Given the description of an element on the screen output the (x, y) to click on. 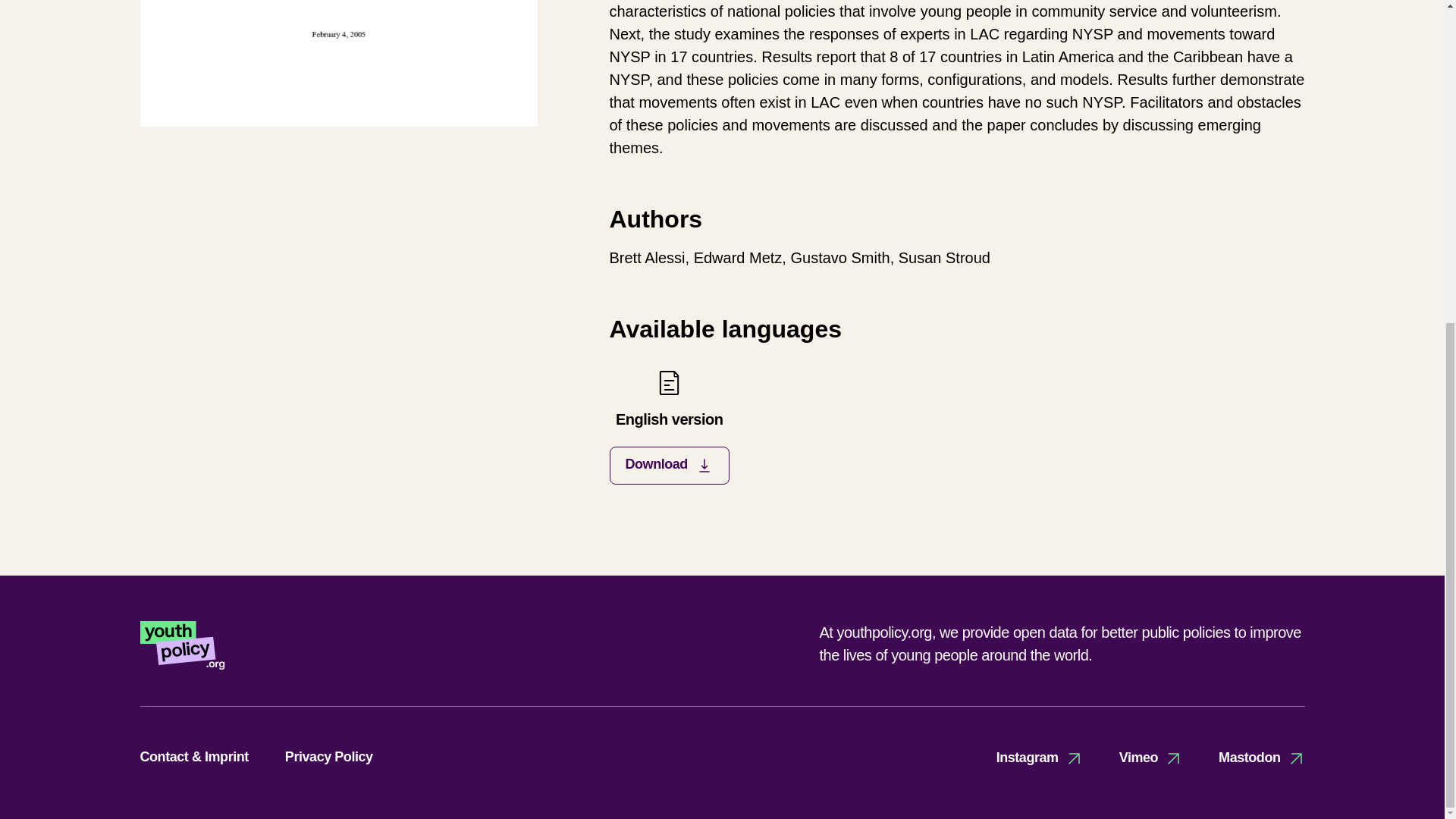
Mastodon (1261, 757)
Vimeo (1150, 757)
Privacy Policy (328, 757)
Instagram (1039, 757)
